Given the description of an element on the screen output the (x, y) to click on. 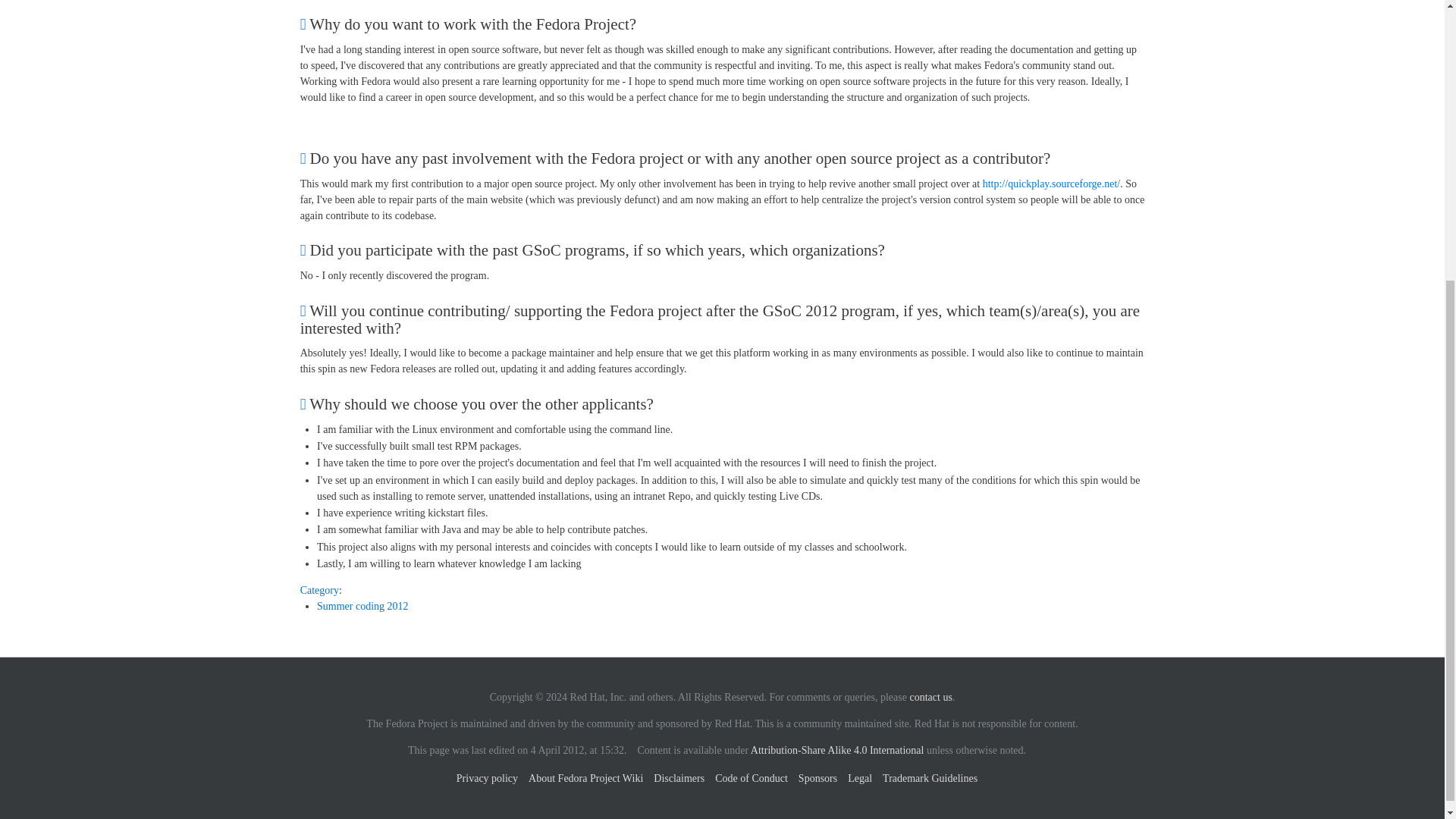
Special:Categories (319, 590)
Category:Summer coding 2012 (363, 605)
Legal:Main (837, 749)
